Given the description of an element on the screen output the (x, y) to click on. 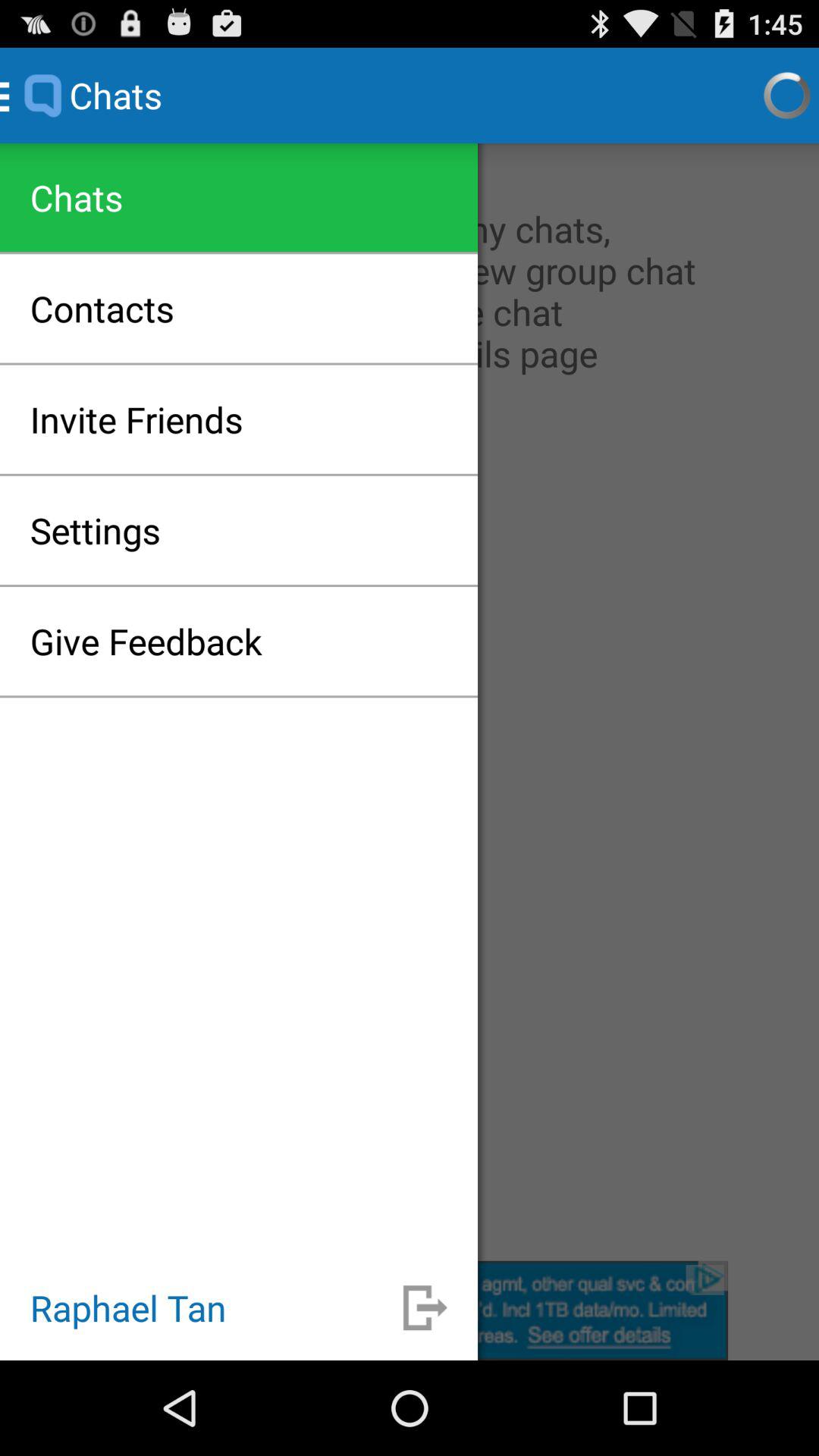
turn on the settings item (95, 530)
